Given the description of an element on the screen output the (x, y) to click on. 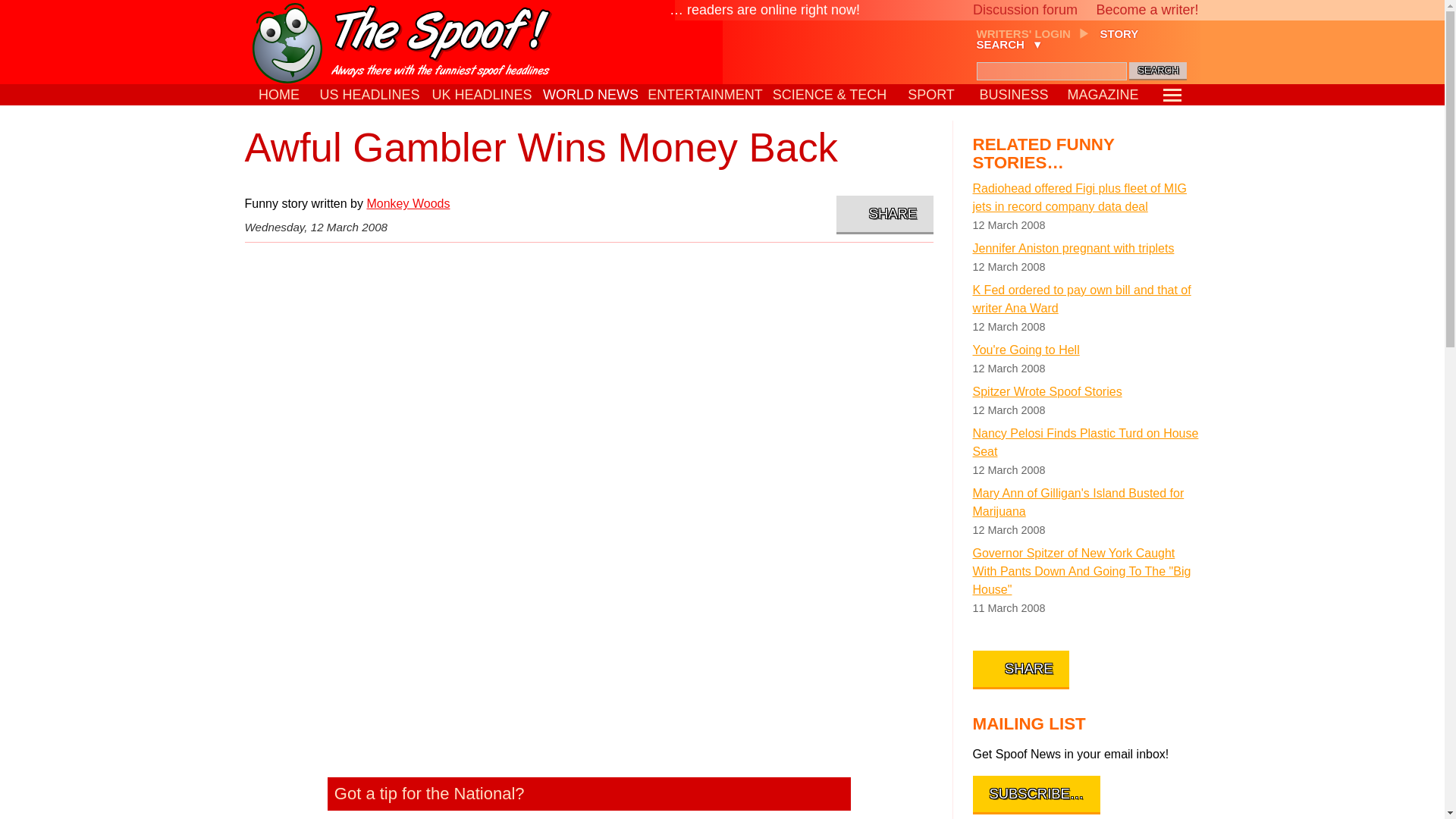
Mary Ann of Gilligan's Island Busted for Marijuana (1085, 502)
You're Going to Hell (1085, 350)
UK HEADLINES (482, 94)
ENTERTAINMENT (705, 94)
Spoof News US Headlines (370, 94)
Spoof News Business Brief (1014, 94)
Spoof News Magazine (1102, 94)
K Fed ordered to pay own bill and that of writer Ana Ward (1085, 299)
Spoof News UK Headlines (482, 94)
